Given the description of an element on the screen output the (x, y) to click on. 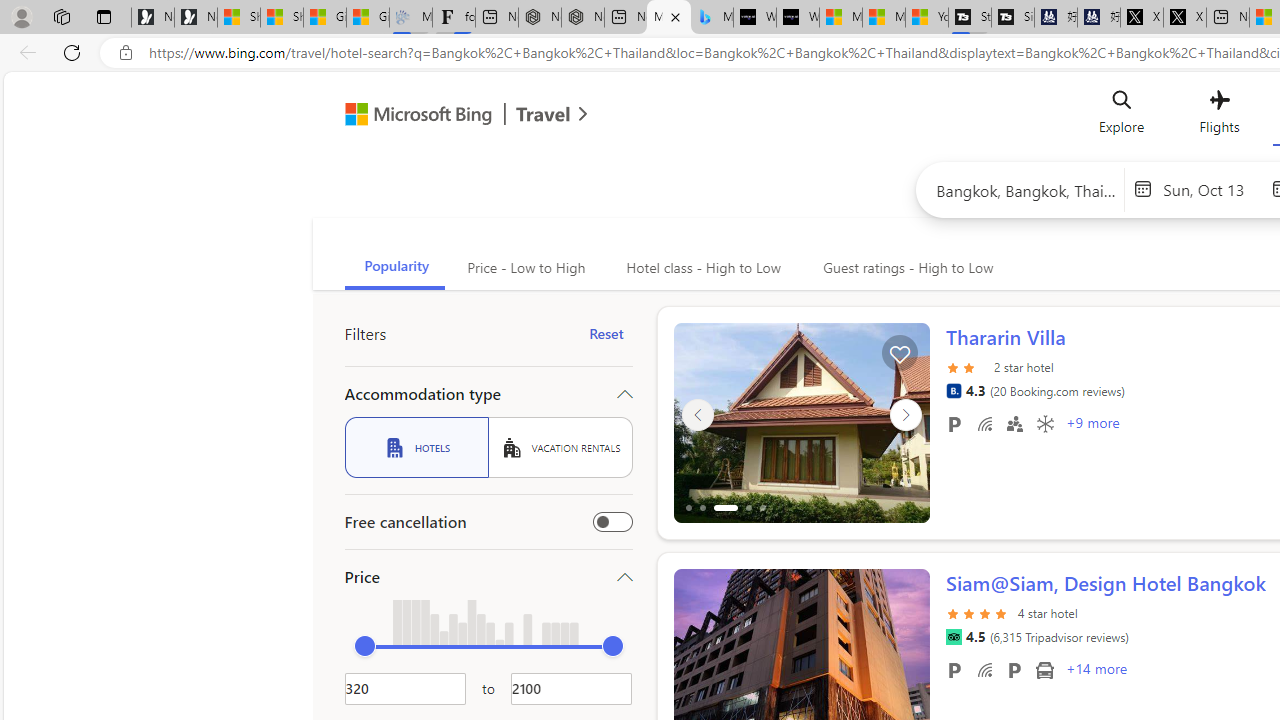
Popularity (394, 268)
+14 More Amenities (1095, 671)
Save to collections (898, 352)
Air conditioning (1044, 423)
star rating (978, 612)
Family friendly (1014, 423)
Search hotels or place (1026, 190)
ScrollLeft (697, 660)
Valet parking (1014, 669)
Explore (1121, 116)
